Given the description of an element on the screen output the (x, y) to click on. 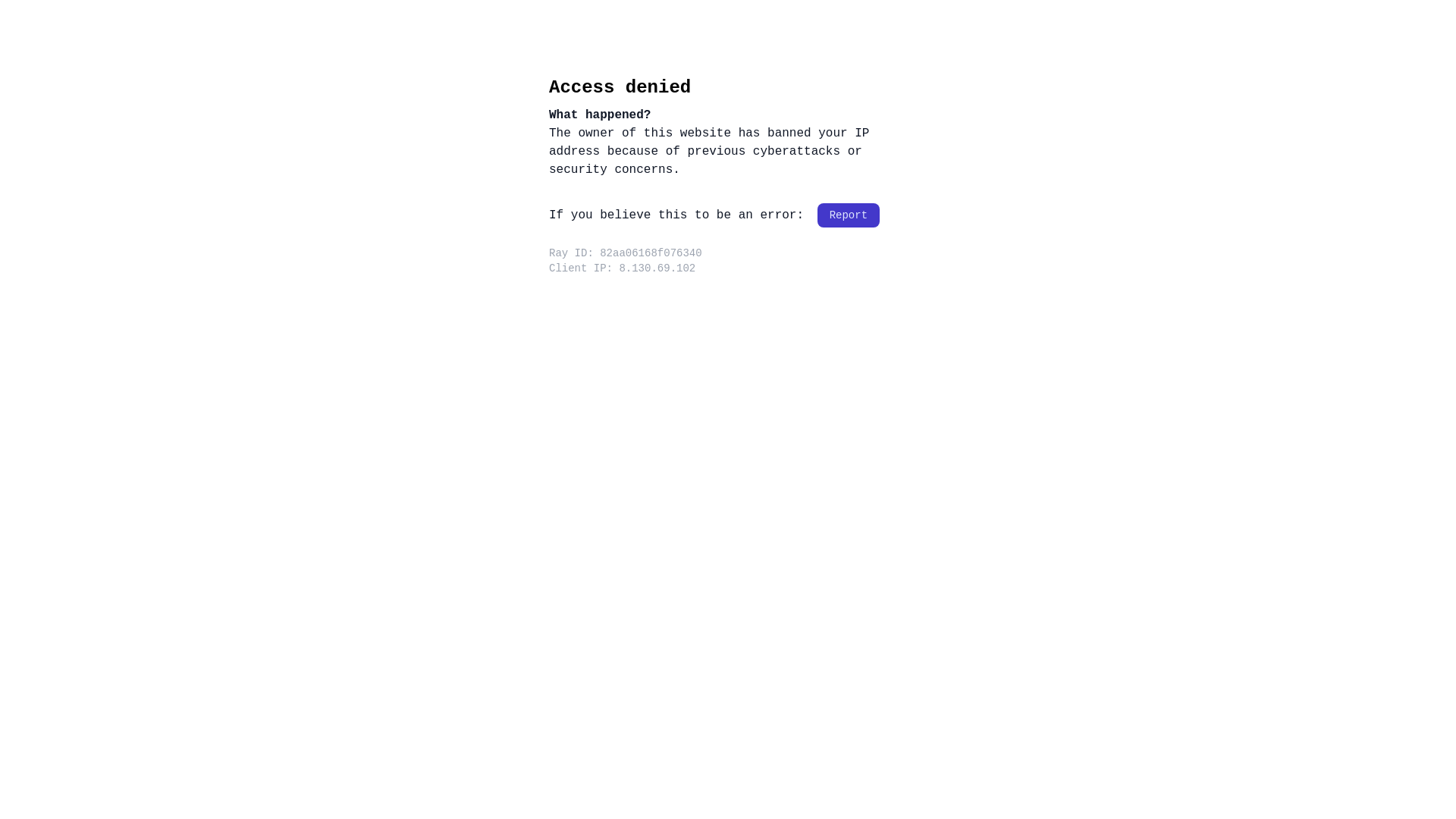
Report Element type: text (848, 215)
